Given the description of an element on the screen output the (x, y) to click on. 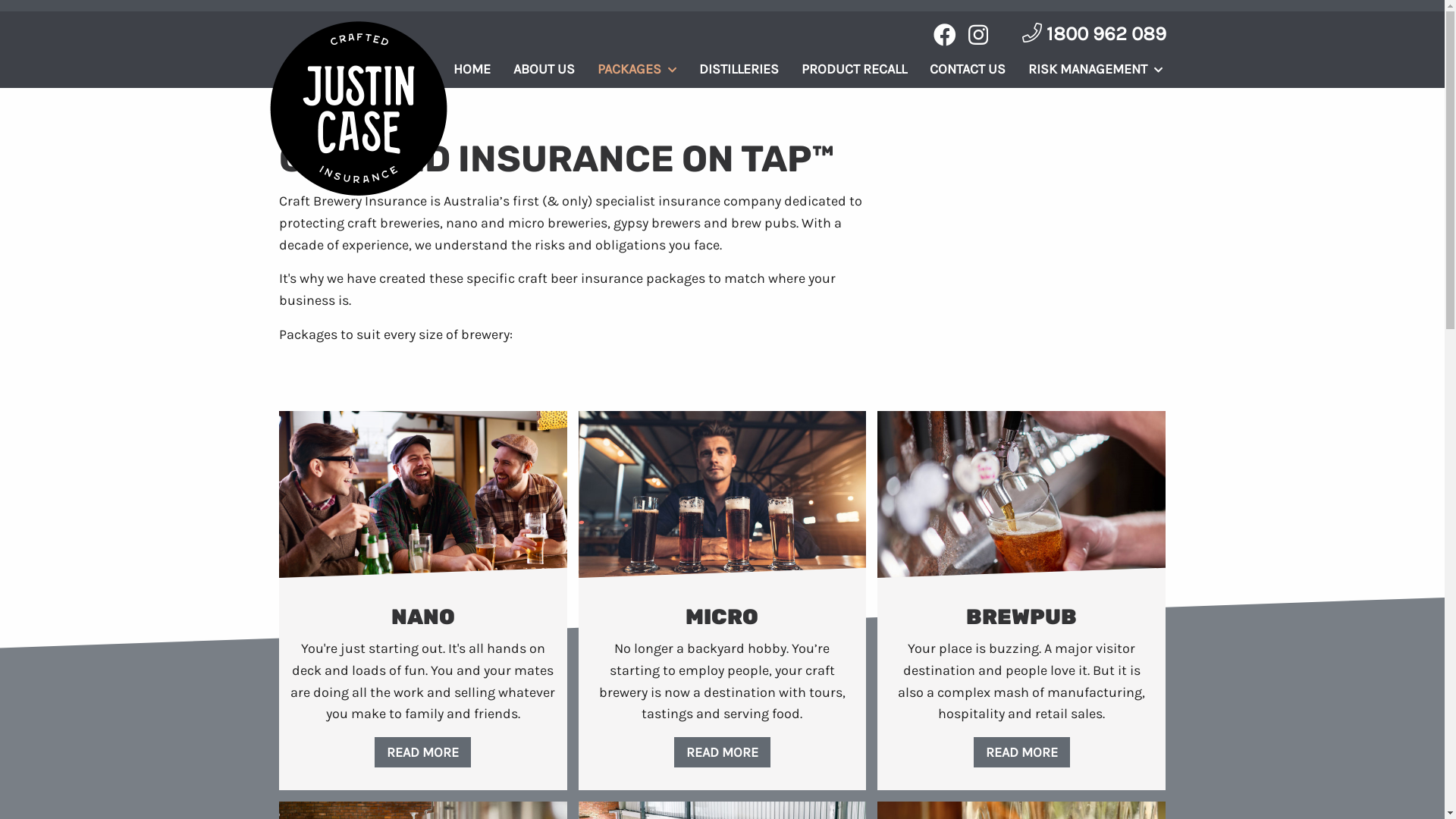
READ MORE Element type: text (422, 752)
PRODUCT RECALL Element type: text (854, 68)
MICRO Element type: text (722, 616)
NANO Element type: text (422, 616)
READ MORE Element type: text (1021, 752)
RISK MANAGEMENT Element type: text (1094, 68)
ABOUT US Element type: text (544, 68)
DISTILLERIES Element type: text (738, 68)
BREWPUB Element type: text (1021, 616)
PACKAGES Element type: text (636, 68)
READ MORE Element type: text (722, 752)
HOME Element type: text (471, 68)
1800 962 089 Element type: text (1094, 33)
CONTACT US Element type: text (966, 68)
